Given the description of an element on the screen output the (x, y) to click on. 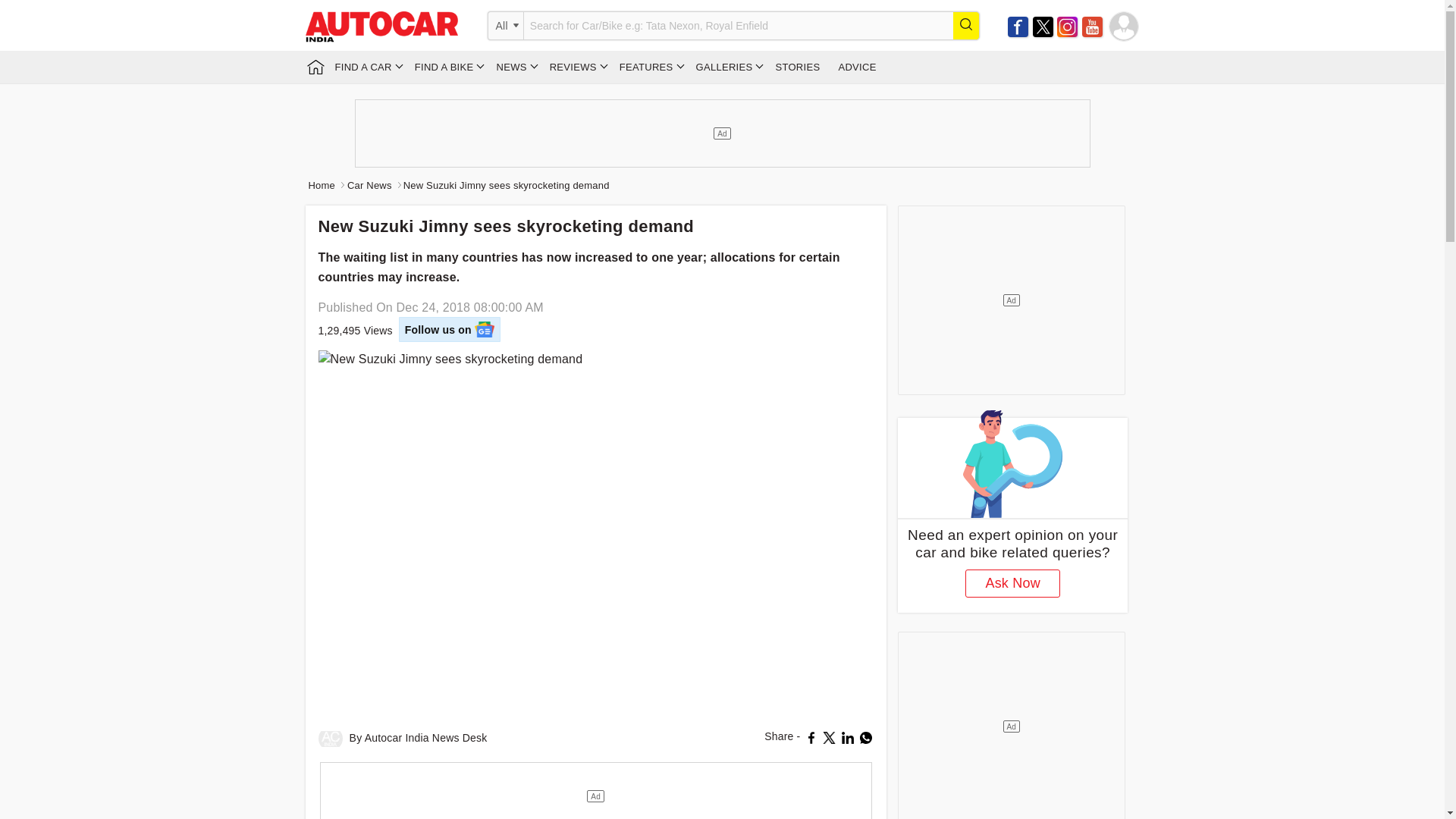
FIND A CAR (366, 66)
FIND A BIKE (446, 66)
